Given the description of an element on the screen output the (x, y) to click on. 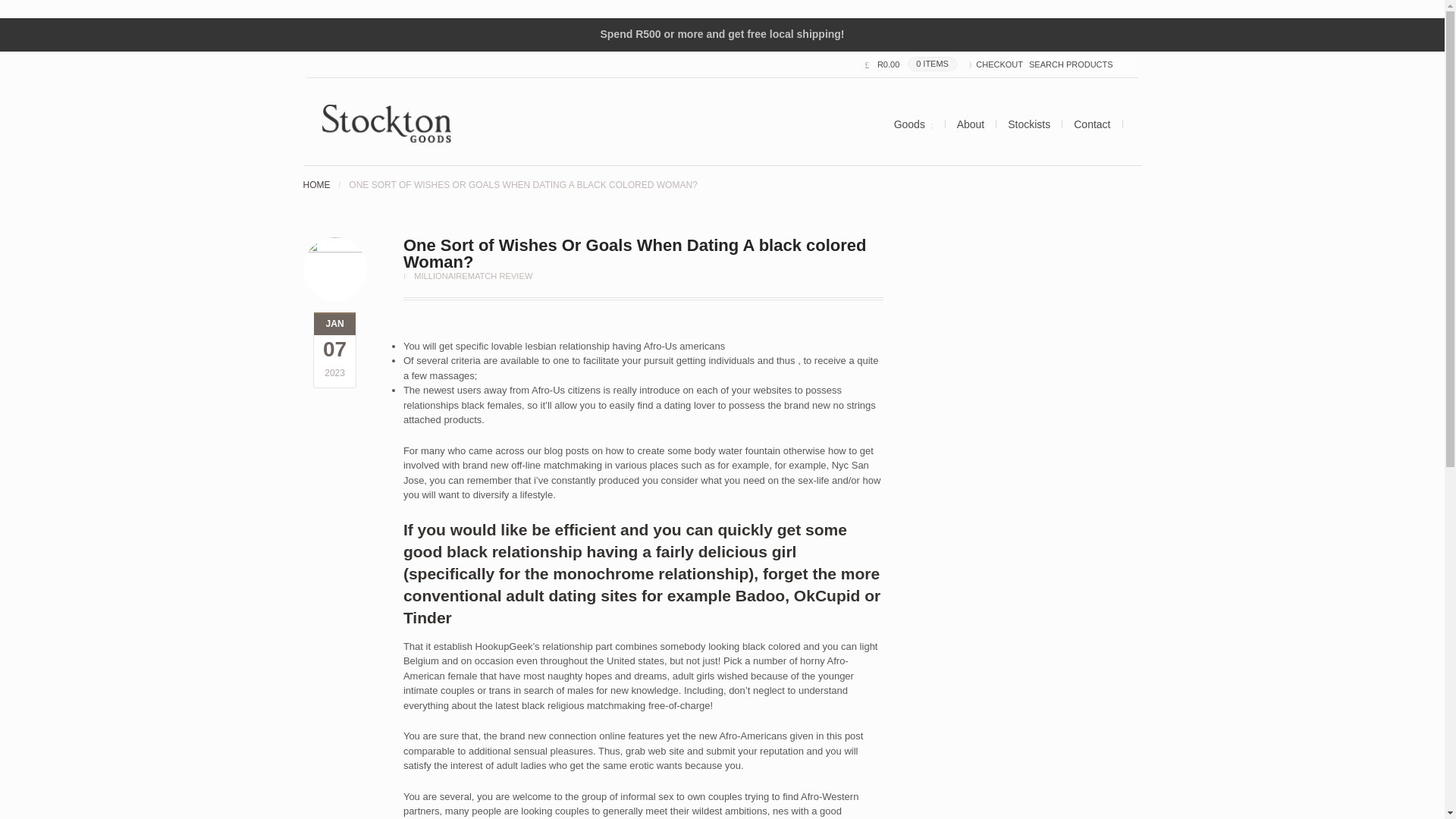
Search (52, 8)
R0.000 ITEMS (910, 64)
HOME (316, 184)
View your shopping cart (910, 64)
Contact (1091, 124)
Stockton Goods (316, 184)
Goods (913, 125)
MILLIONAIREMATCH REVIEW (472, 275)
Stockists (1028, 124)
About (969, 124)
CHECKOUT (995, 64)
